Given the description of an element on the screen output the (x, y) to click on. 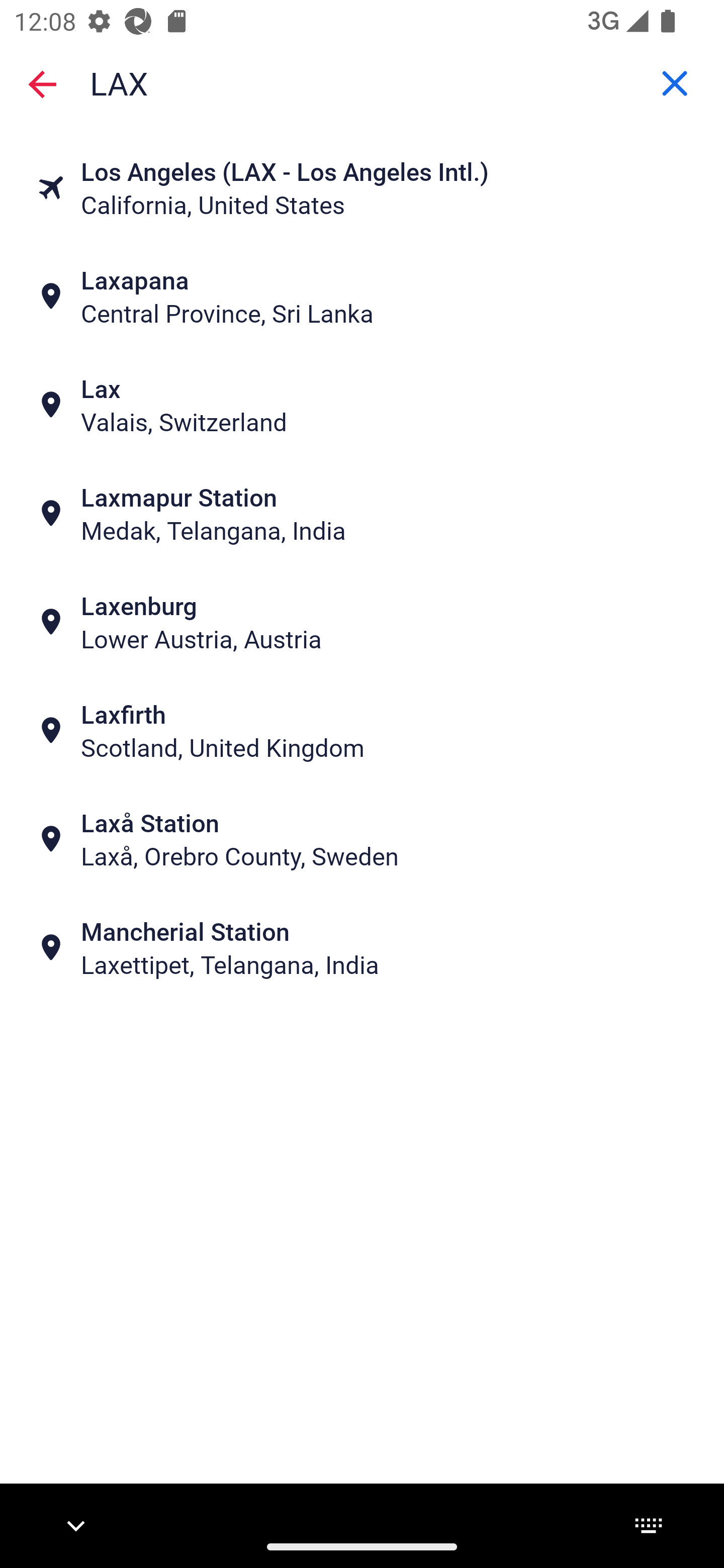
Close search screen (42, 84)
Clear Drop-off (674, 82)
Drop-off, LAX (361, 82)
